Given the description of an element on the screen output the (x, y) to click on. 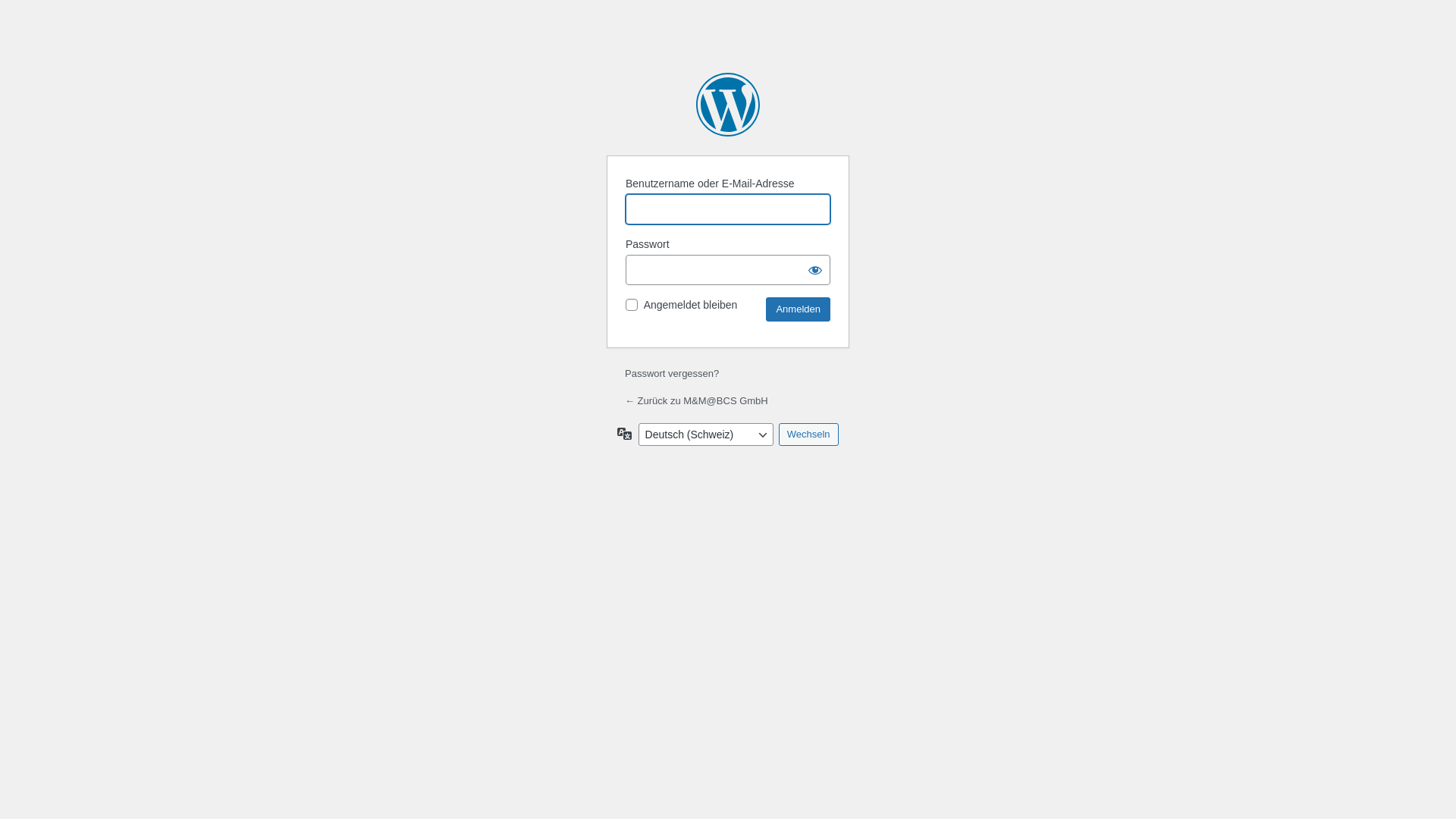
Anmelden Element type: text (797, 309)
Wechseln Element type: text (808, 434)
Passwort vergessen? Element type: text (671, 373)
Powered by WordPress Element type: text (727, 104)
